Given the description of an element on the screen output the (x, y) to click on. 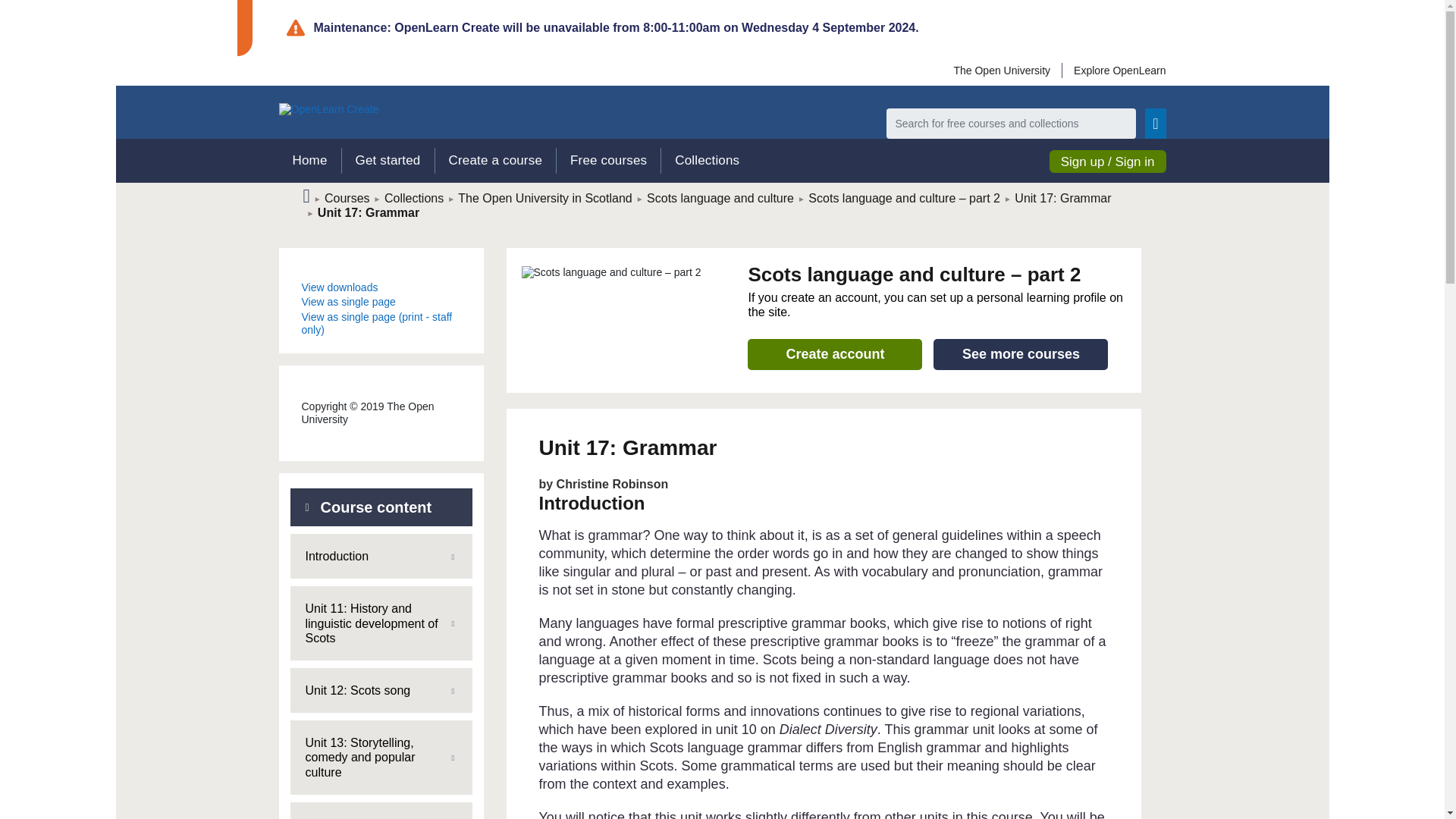
Collections (706, 160)
Back to course content tab (380, 507)
OpenLearn Create (328, 109)
Collections (414, 197)
The Open University in Scotland (544, 197)
Scots language and culture (719, 197)
Course content (380, 507)
Get started (386, 160)
Home (309, 160)
Courses (346, 197)
